Given the description of an element on the screen output the (x, y) to click on. 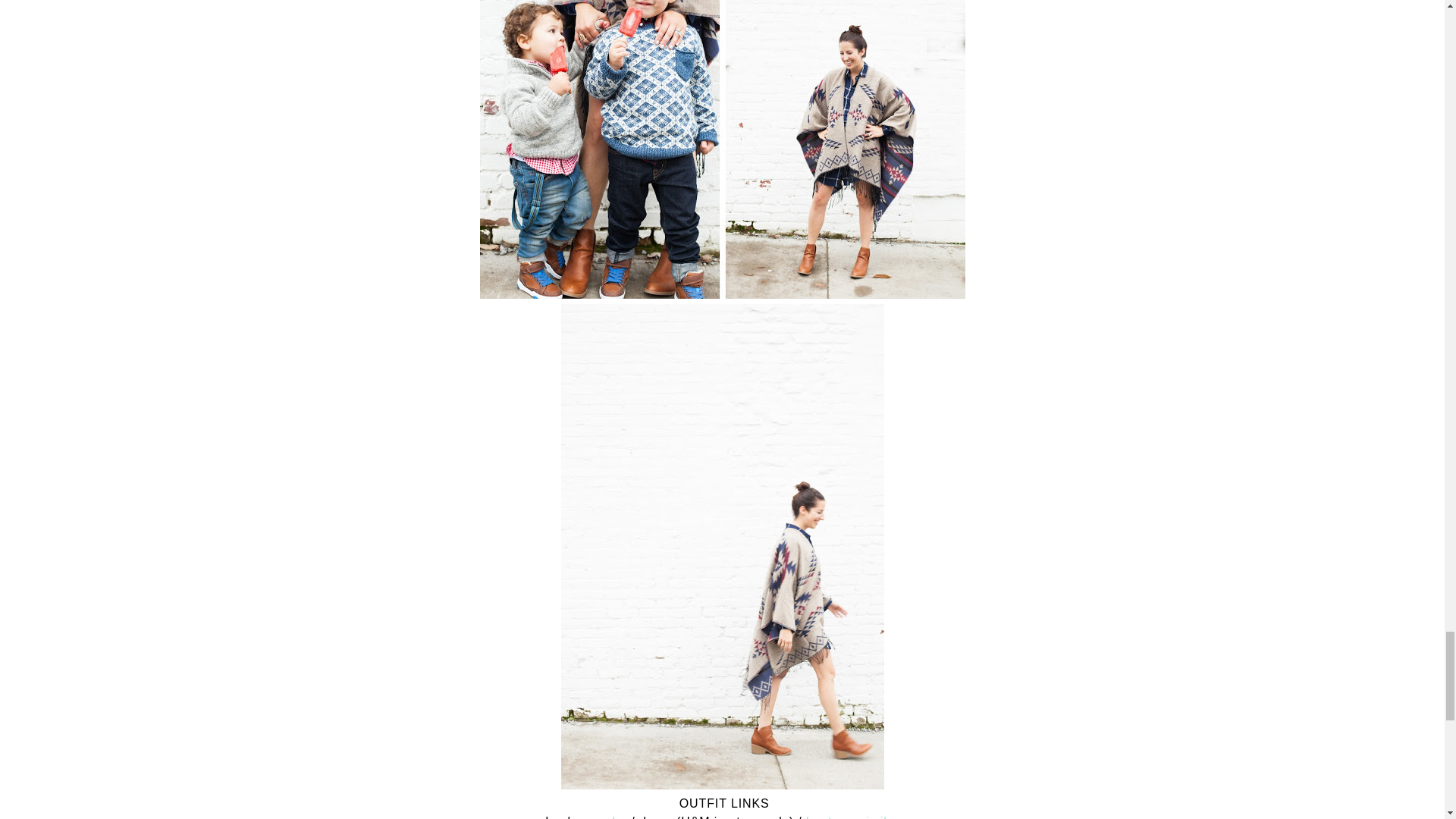
boots (823, 816)
poncho (605, 816)
